Given the description of an element on the screen output the (x, y) to click on. 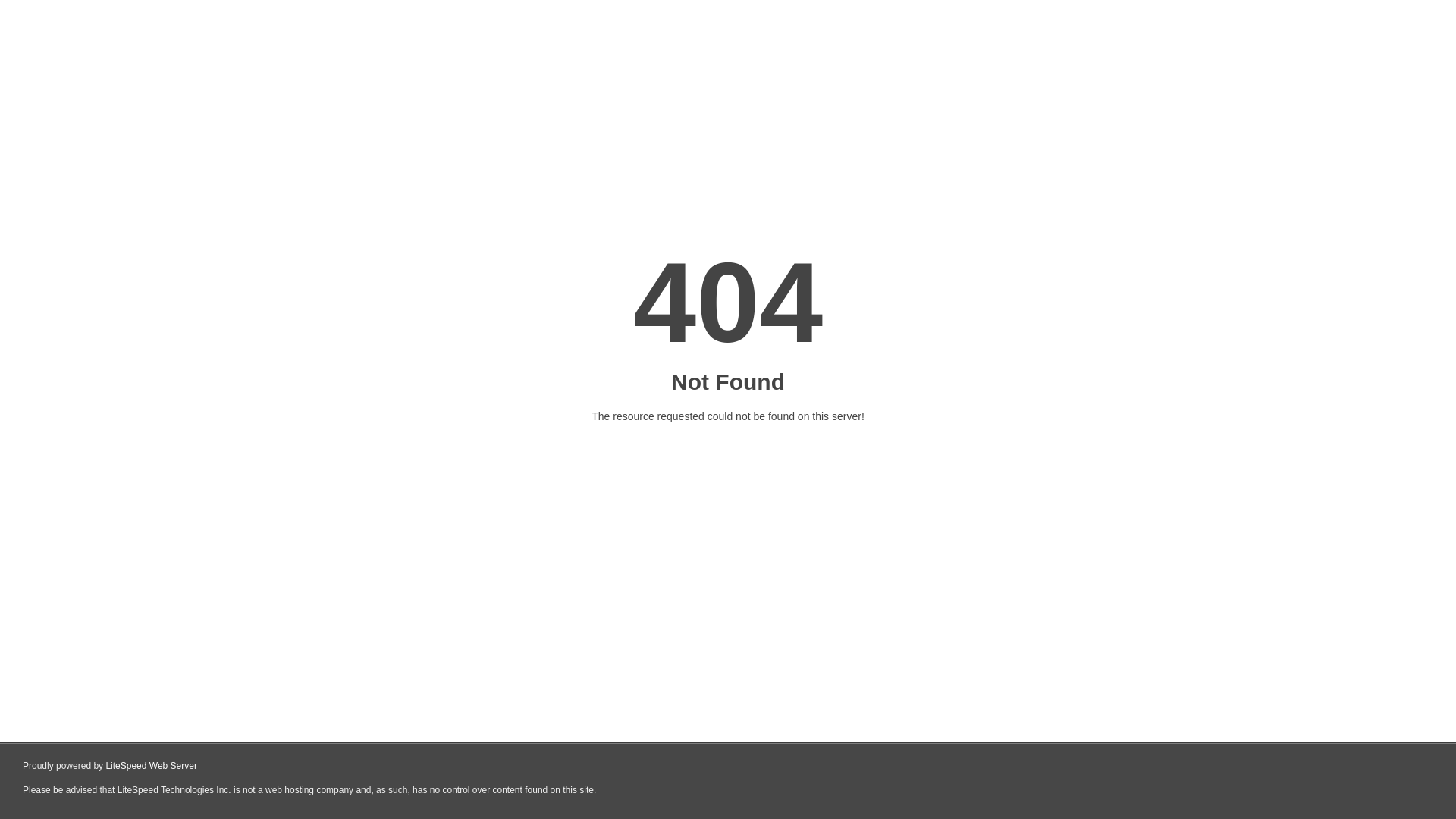
LiteSpeed Web Server (150, 765)
